Given the description of an element on the screen output the (x, y) to click on. 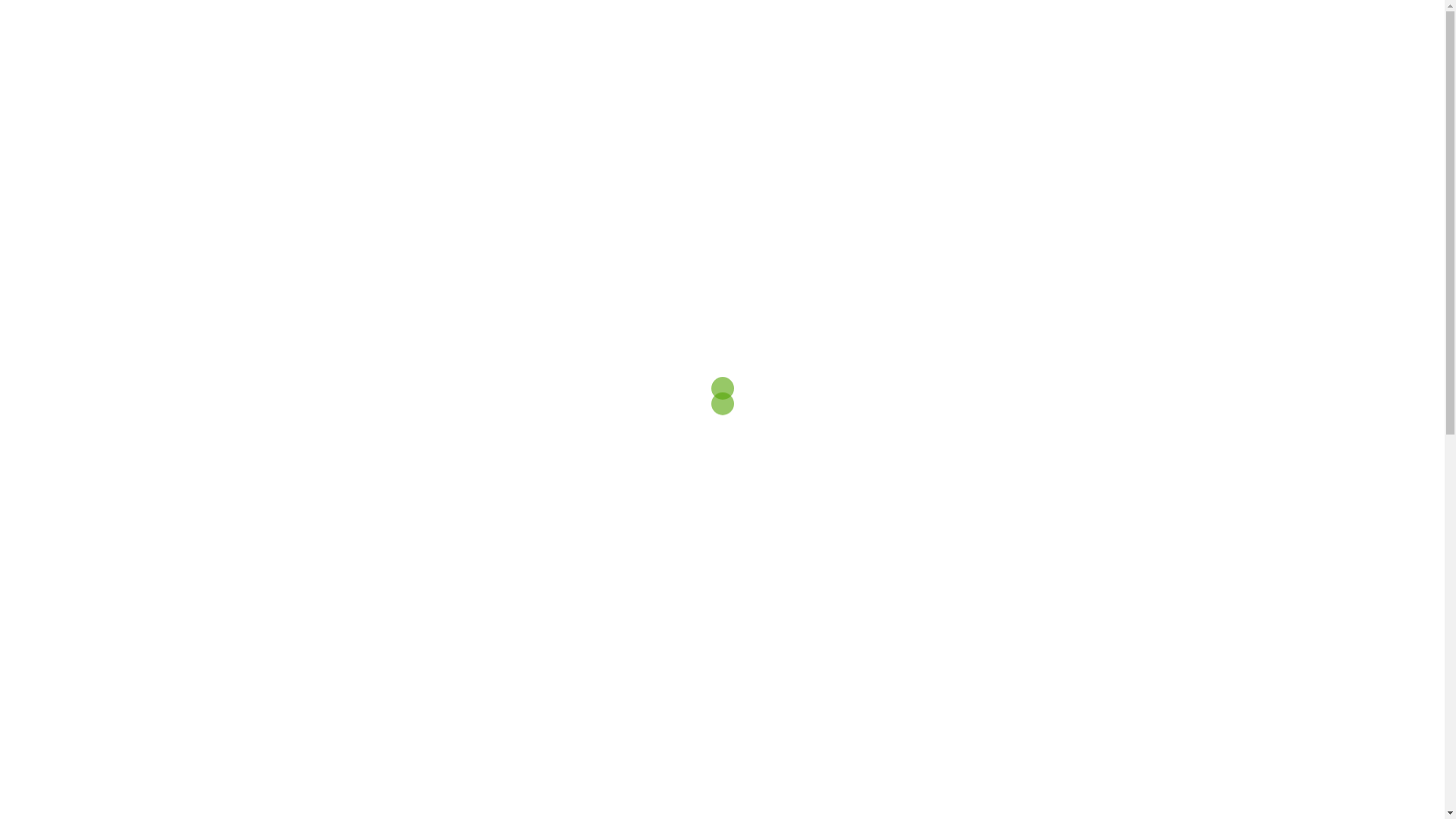
Log In Element type: text (990, 24)
Our Company Element type: text (897, 24)
Base-Station Element type: text (617, 24)
TerrAsonde Element type: text (510, 24)
Search Element type: text (1148, 24)
About Us Element type: text (716, 24)
Contact Element type: text (798, 24)
Search Element type: text (57, 18)
Hussat Element type: hover (314, 23)
